Given the description of an element on the screen output the (x, y) to click on. 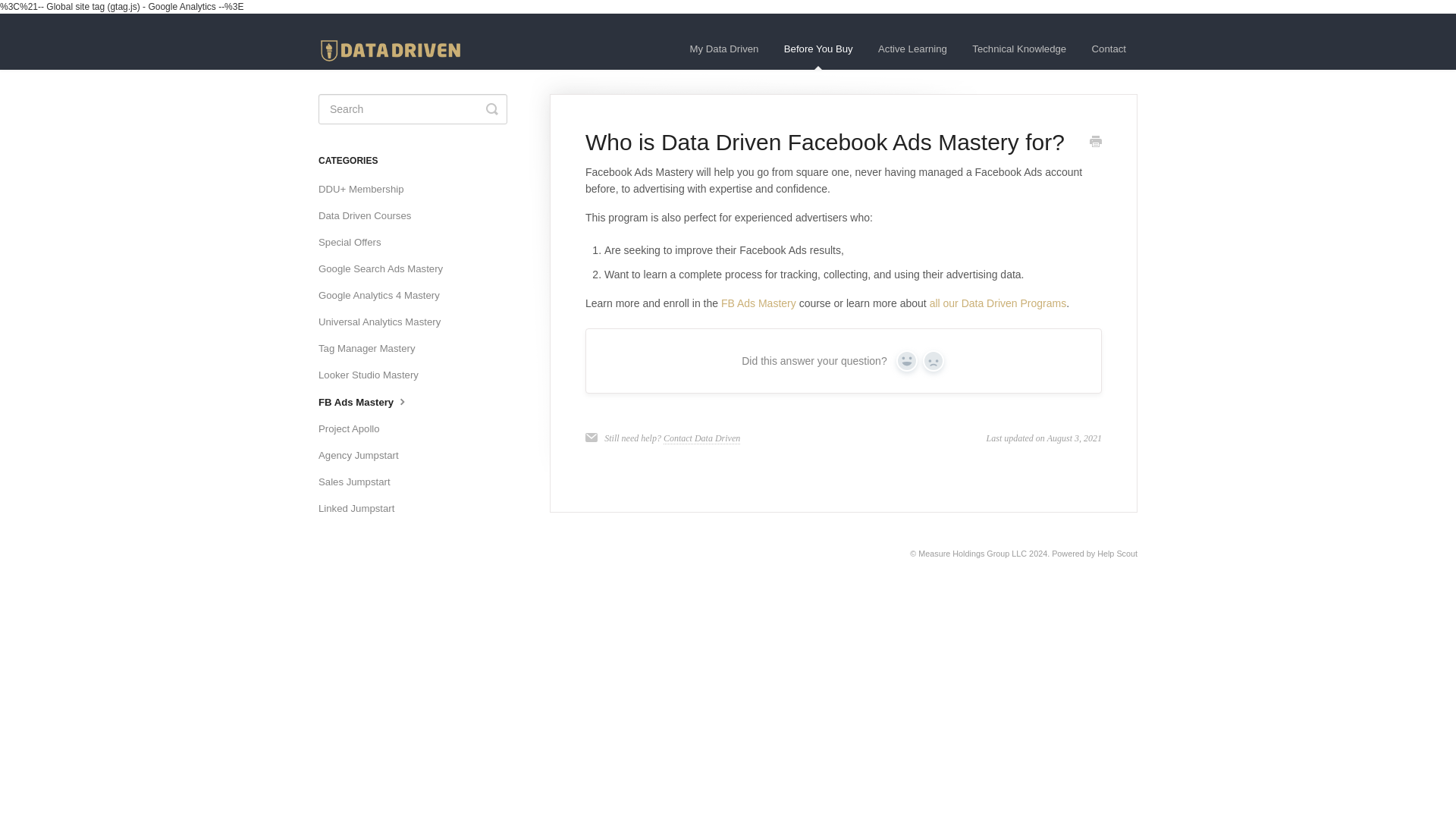
Linked Jumpstart (362, 508)
Active Learning (912, 48)
Technical Knowledge (1018, 48)
Data Driven Courses (370, 215)
Yes (906, 360)
Looker Studio Mastery (373, 375)
Help Scout (1117, 552)
FB Ads Mastery (370, 401)
search-query (412, 109)
Contact (1108, 48)
